Given the description of an element on the screen output the (x, y) to click on. 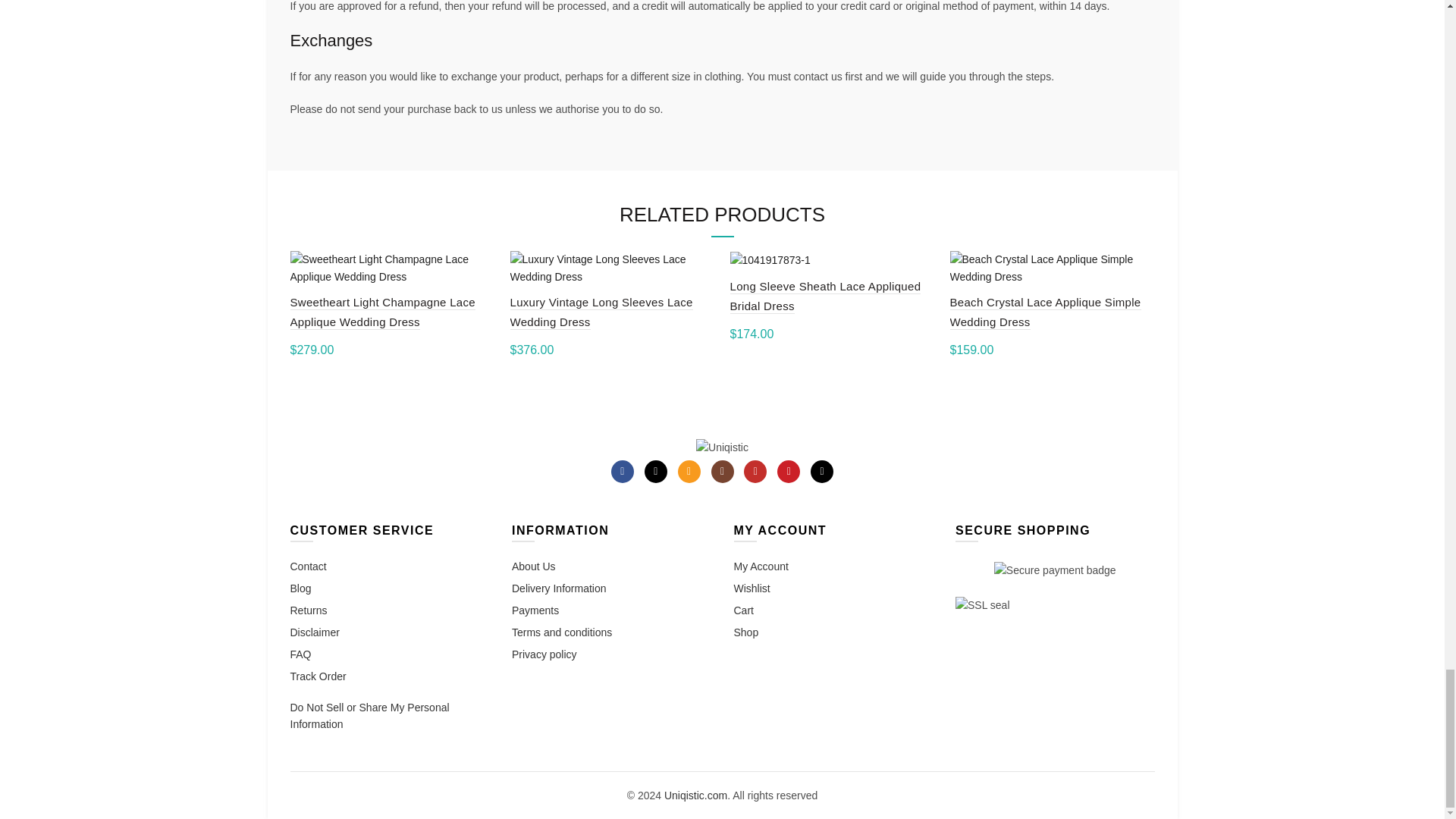
SSL (982, 605)
Uniqistic.com (721, 446)
Secure payment (1055, 569)
